Given the description of an element on the screen output the (x, y) to click on. 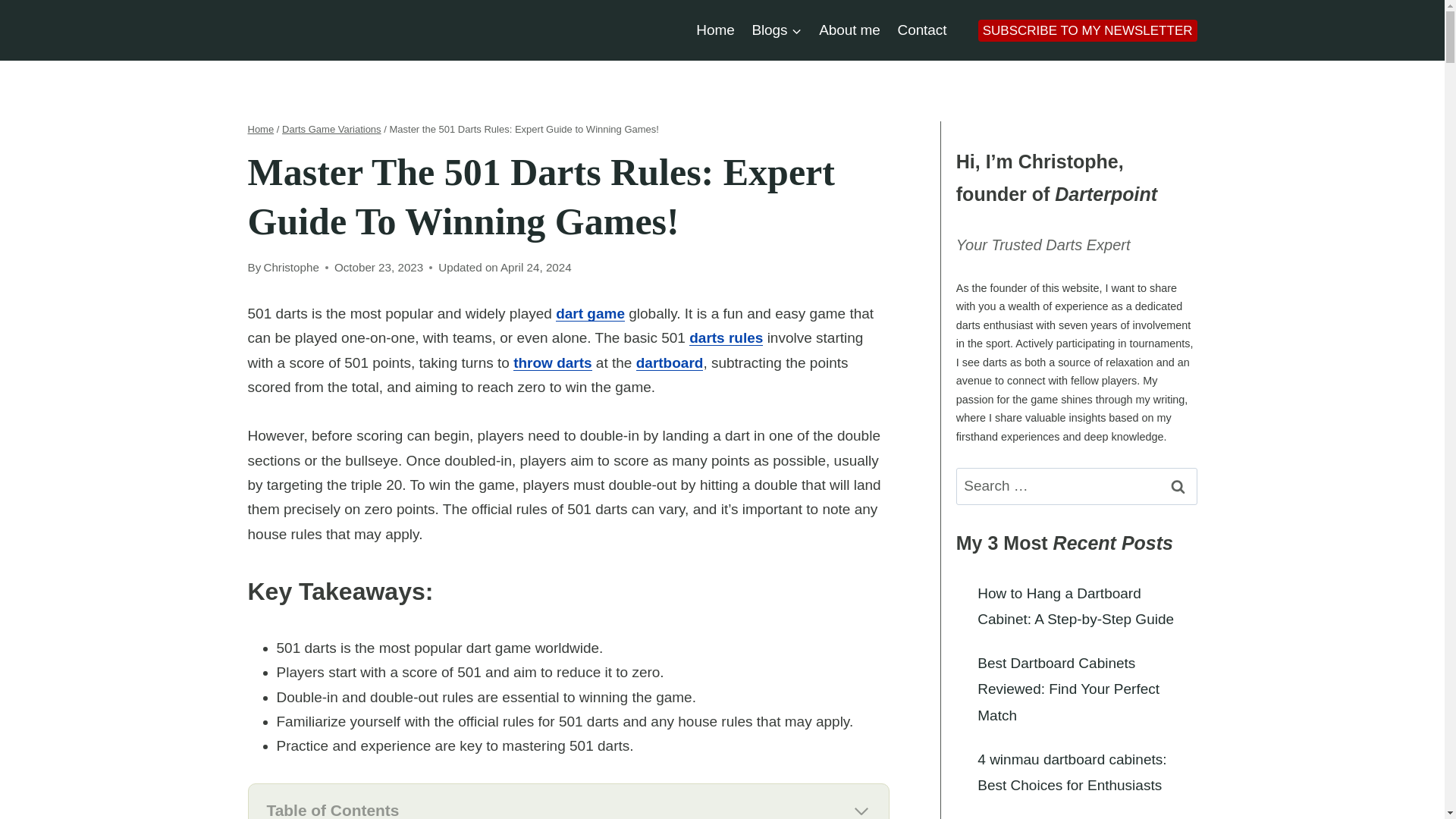
darts rules (725, 337)
Blogs (776, 29)
Contact (921, 29)
Search (1177, 486)
Home (714, 29)
Table of Contents (568, 810)
dart game (590, 313)
throw darts (552, 362)
Search (1177, 486)
Darts Game Variations (331, 129)
